Given the description of an element on the screen output the (x, y) to click on. 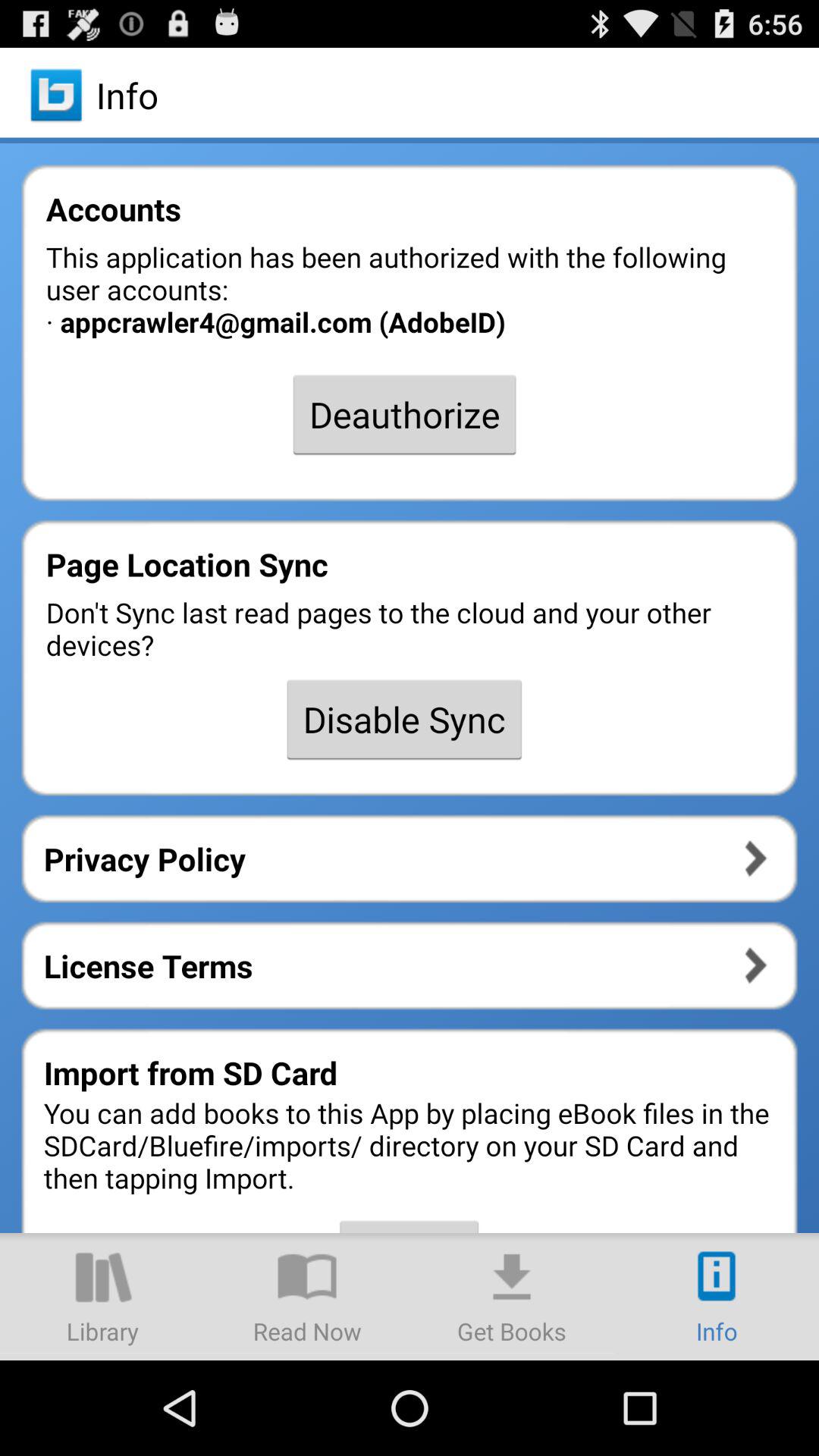
read article (306, 1296)
